Given the description of an element on the screen output the (x, y) to click on. 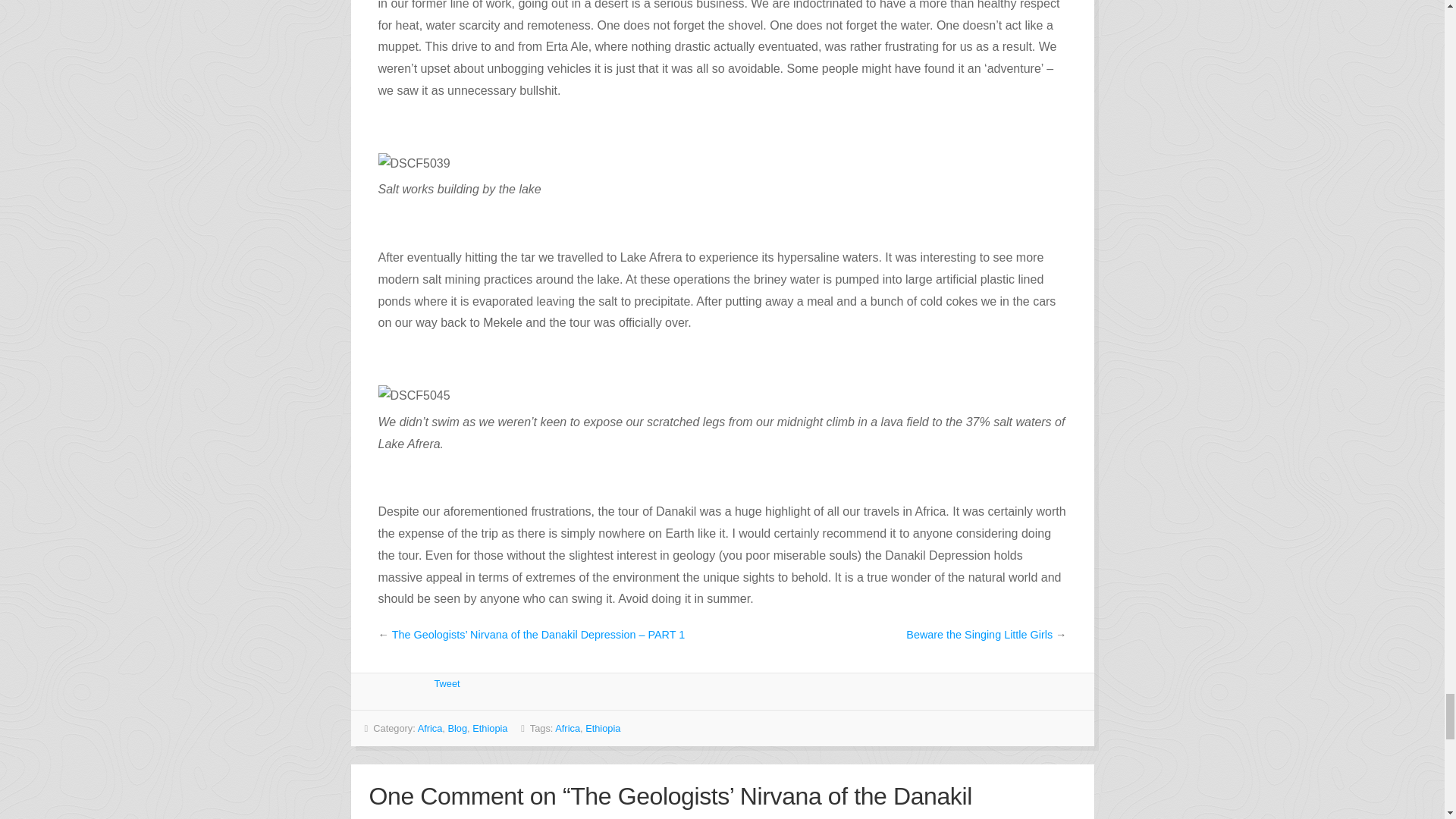
Tweet (446, 683)
Ethiopia (602, 727)
Ethiopia (488, 727)
Africa (566, 727)
Africa (429, 727)
Blog (456, 727)
Beware the Singing Little Girls (978, 634)
